Given the description of an element on the screen output the (x, y) to click on. 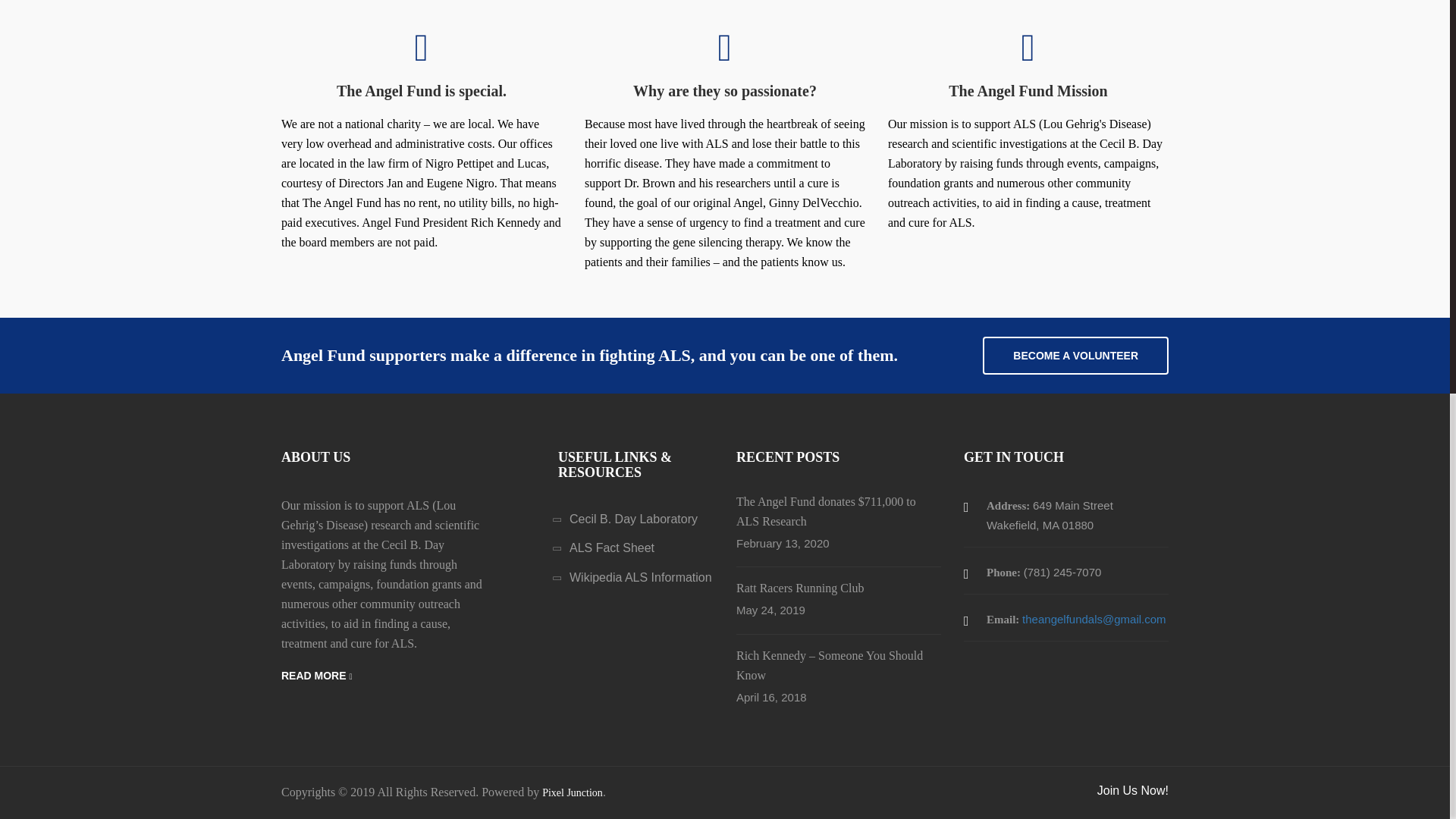
Cecil B. Day Laboratory (633, 519)
Ratt Racers Running Club (799, 591)
BECOME A VOLUNTEER (1075, 355)
ALS Fact Sheet (611, 548)
READ MORE (316, 676)
Wikipedia ALS Information (640, 578)
